Given the description of an element on the screen output the (x, y) to click on. 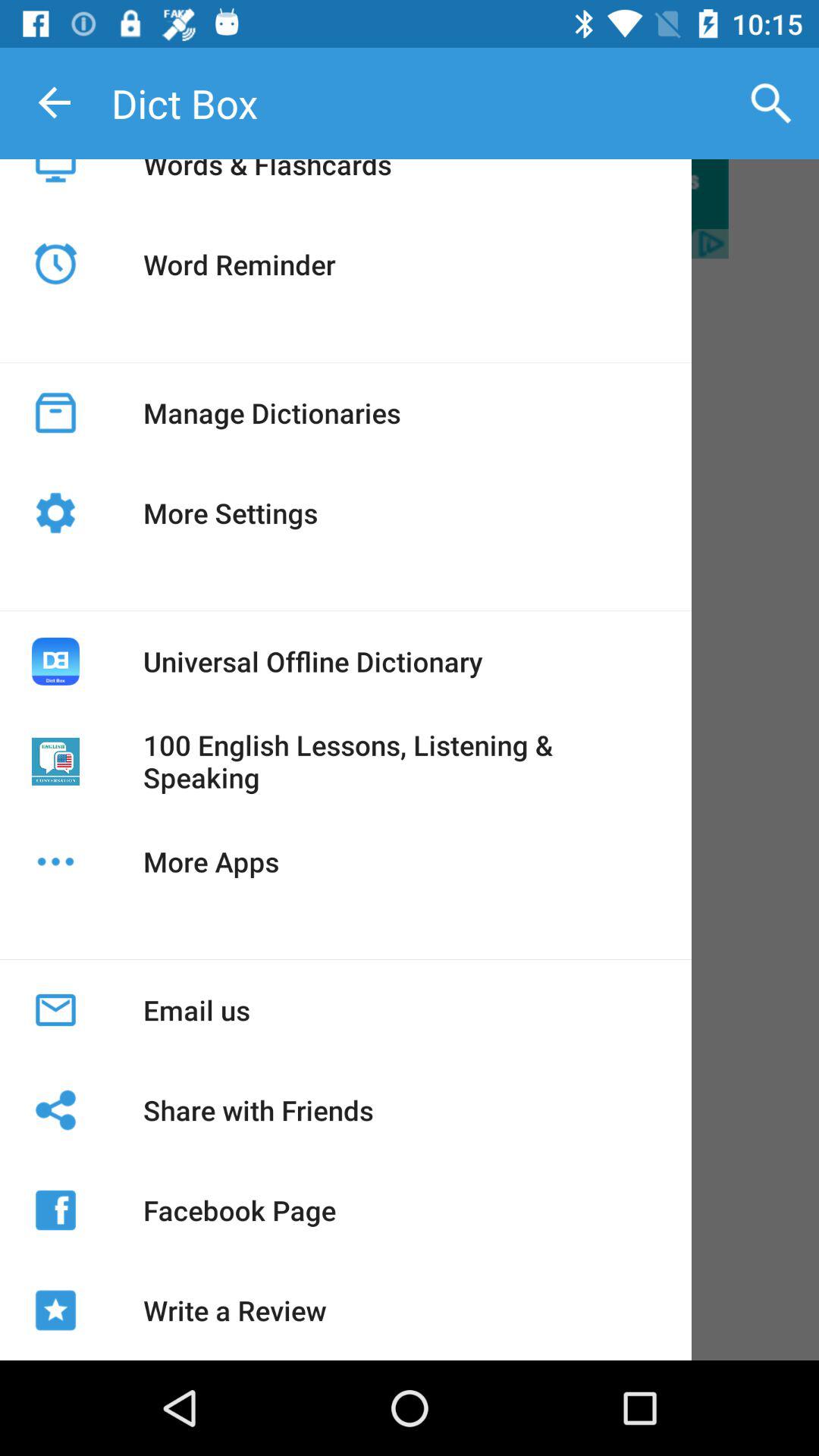
turn on the icon below 100 english lessons icon (211, 861)
